Given the description of an element on the screen output the (x, y) to click on. 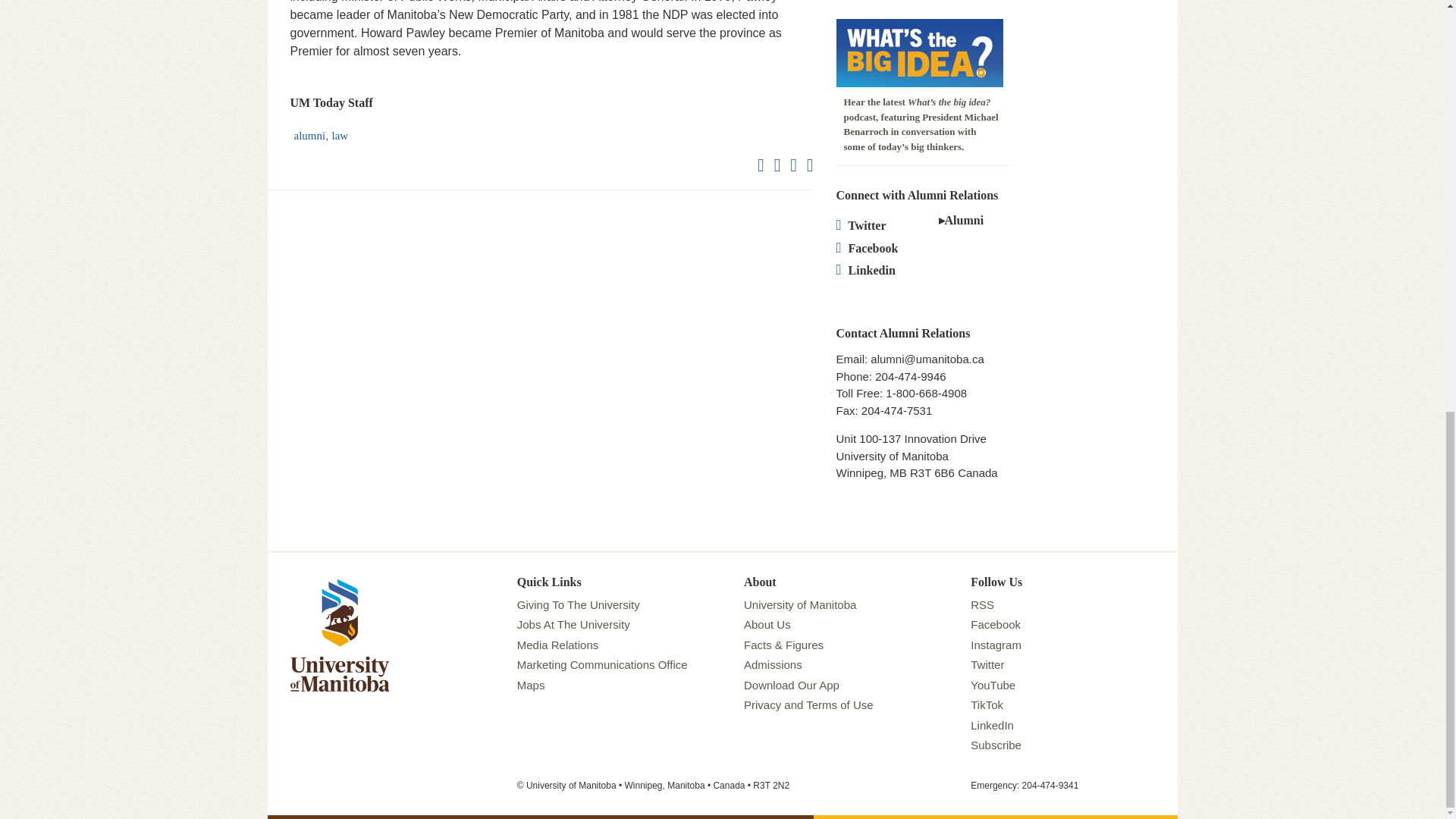
University of Manitoba (338, 580)
